Given the description of an element on the screen output the (x, y) to click on. 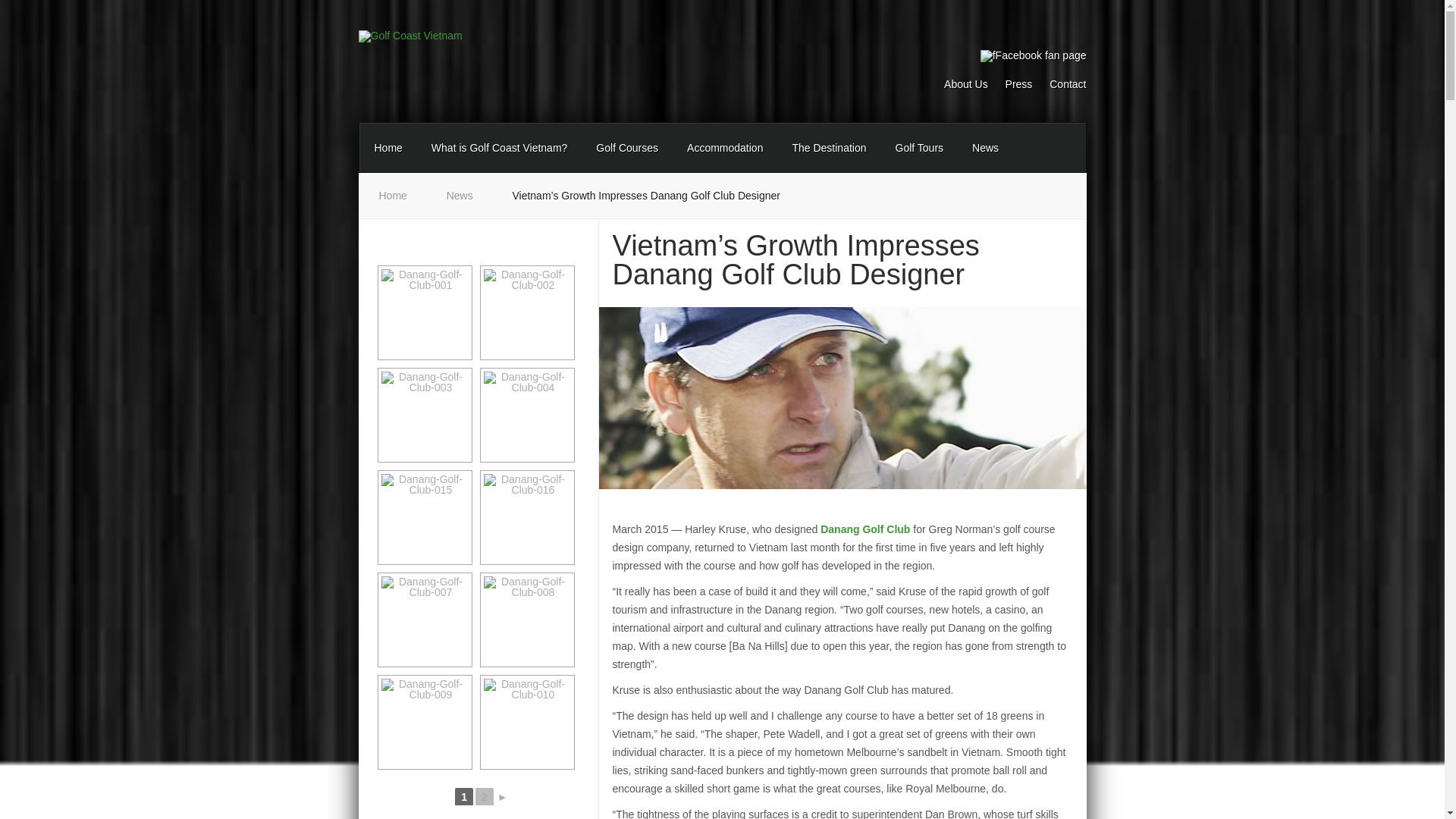
Hole 12a. PHOTO CREDIT: Tom Harack, for Mandarin Media (423, 619)
Golf Tours (919, 147)
Danang Golf Club (865, 529)
Hole 10. PHOTO CREDIT: Tom Harack, for Mandarin Media (423, 414)
Hole 12b. PHOTO CREDIT: Tom Harack, for Mandarin Media (526, 619)
Danang Golf Club (865, 529)
Press (1011, 87)
About Us (959, 87)
Home (387, 147)
Hole 8. PHOTO CREDIT: Tom Harack, for Mandarin Media (526, 517)
